Given the description of an element on the screen output the (x, y) to click on. 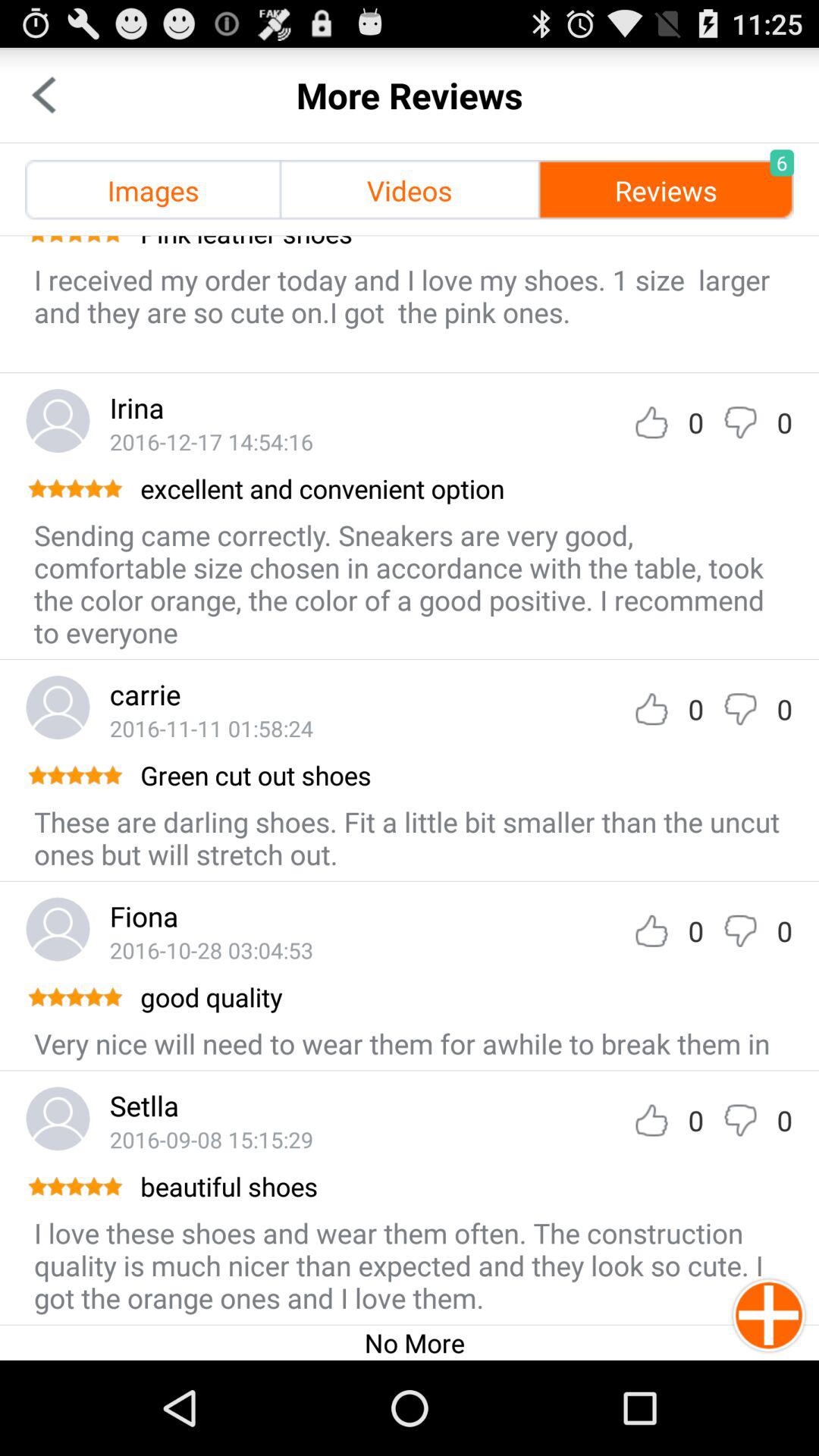
open item above the green cut out (211, 728)
